Given the description of an element on the screen output the (x, y) to click on. 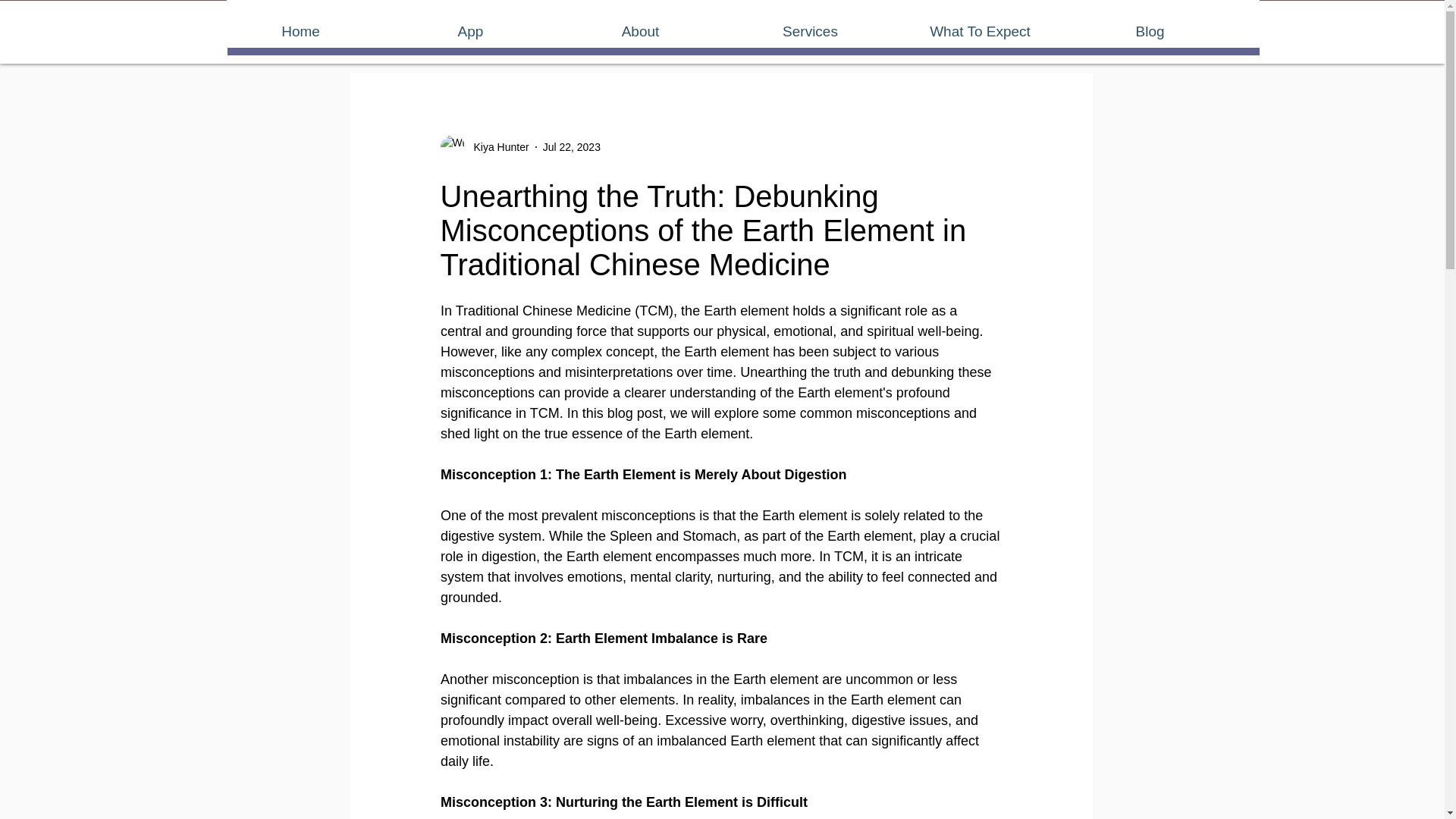
Services (810, 31)
App (469, 31)
Home (300, 31)
Jul 22, 2023 (571, 146)
What To Expect (979, 31)
Kiya Hunter (483, 146)
Blog (1149, 31)
Kiya Hunter (496, 147)
About (639, 31)
